Given the description of an element on the screen output the (x, y) to click on. 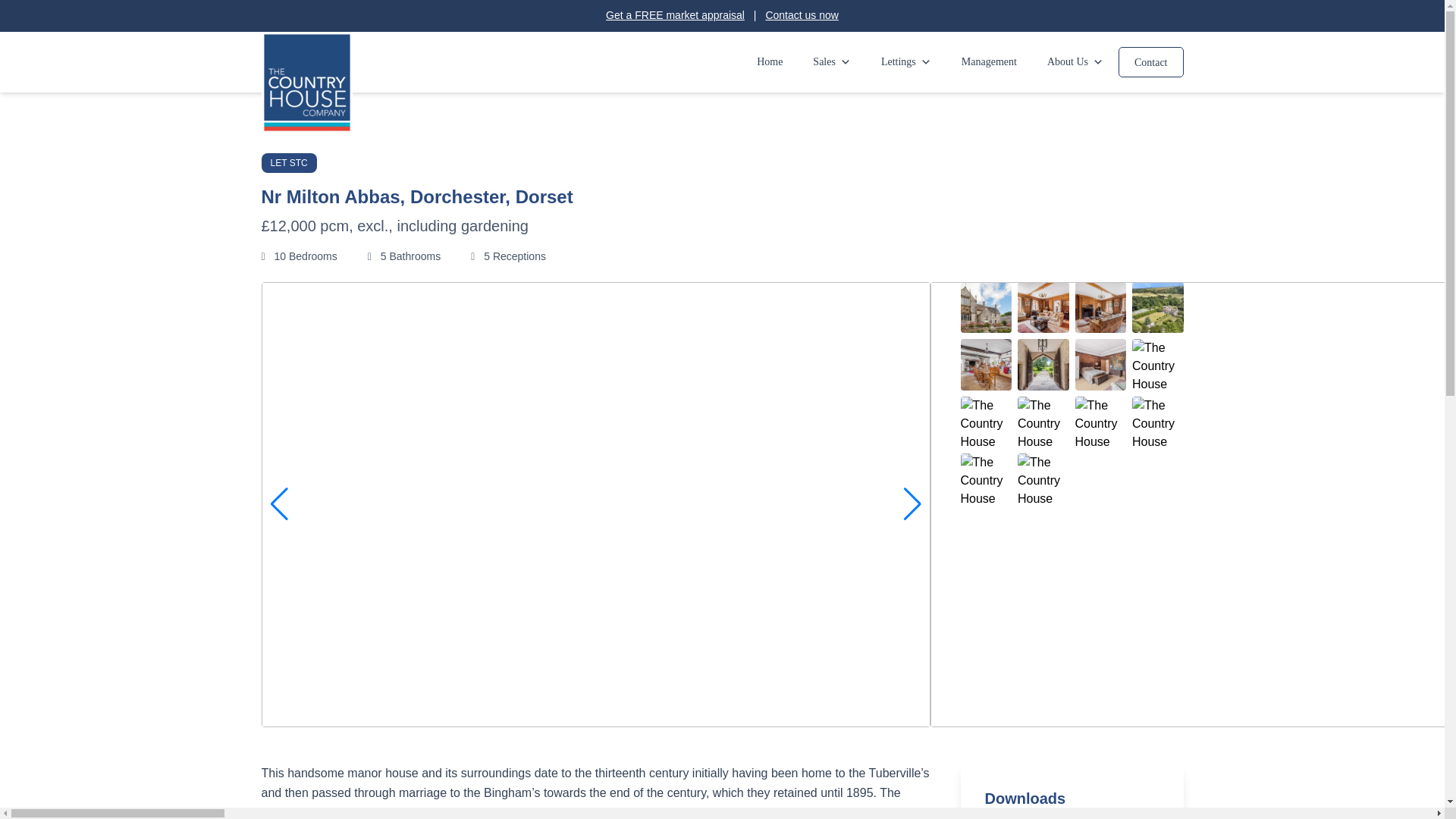
Lettings (906, 61)
Get a FREE market appraisal (674, 15)
Management (989, 61)
Contact (1150, 61)
Sales (831, 61)
Home (769, 61)
Contact us now (801, 15)
About Us (1075, 61)
